Given the description of an element on the screen output the (x, y) to click on. 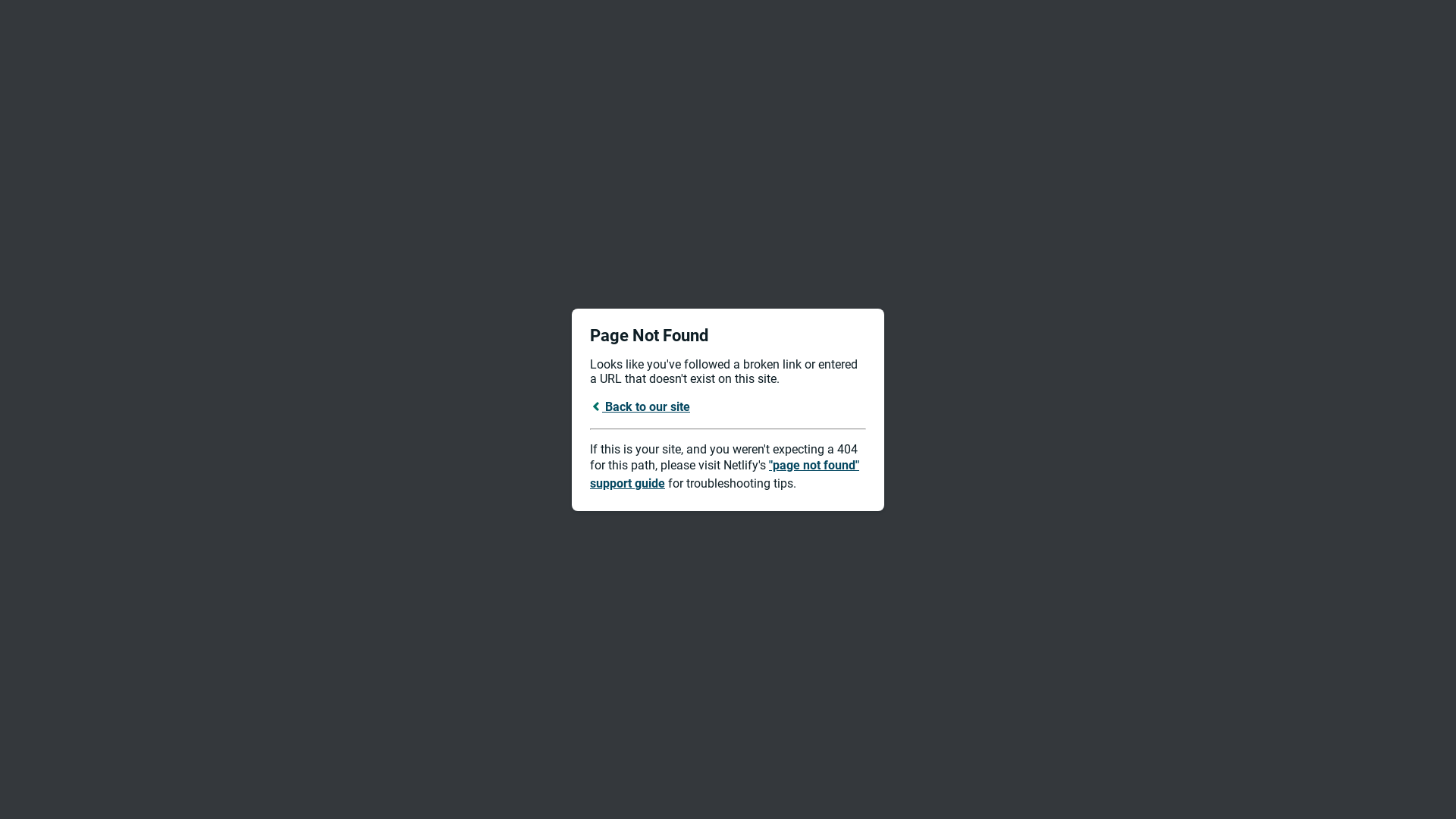
"page not found" support guide Element type: text (724, 474)
Back to our site Element type: text (639, 405)
